Given the description of an element on the screen output the (x, y) to click on. 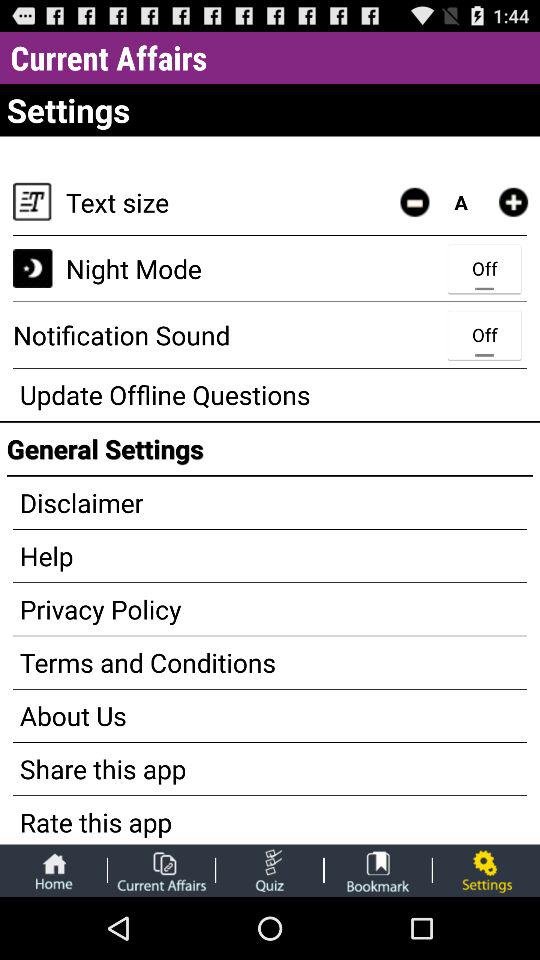
take a quiz (269, 870)
